Given the description of an element on the screen output the (x, y) to click on. 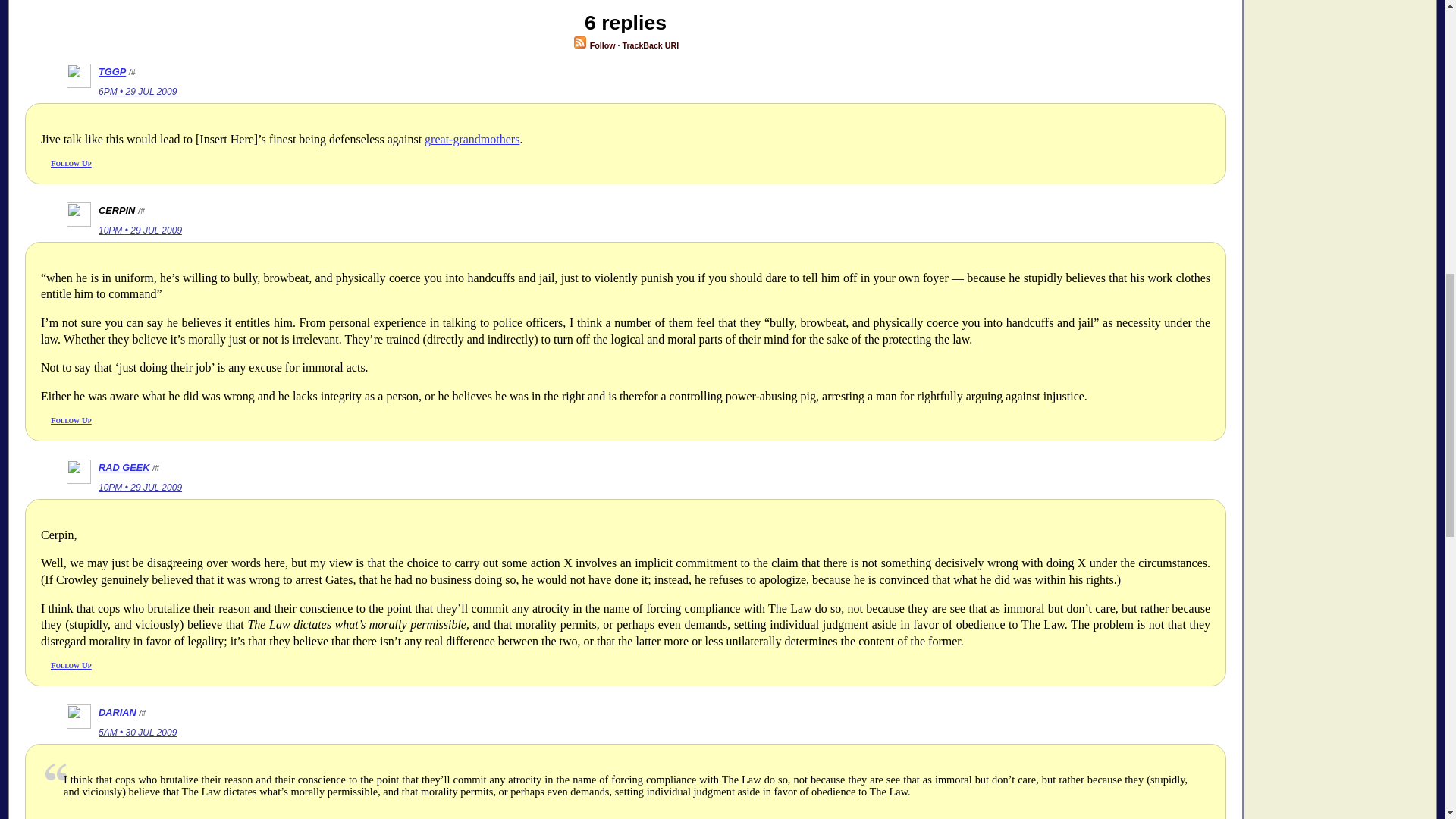
TrackBack URI (649, 44)
RAD GEEK (124, 467)
Follow Up (70, 420)
Follow (593, 44)
DARIAN (117, 712)
great-grandmothers (472, 138)
Follow Up (70, 664)
TGGP (112, 71)
Follow Up (70, 162)
